Given the description of an element on the screen output the (x, y) to click on. 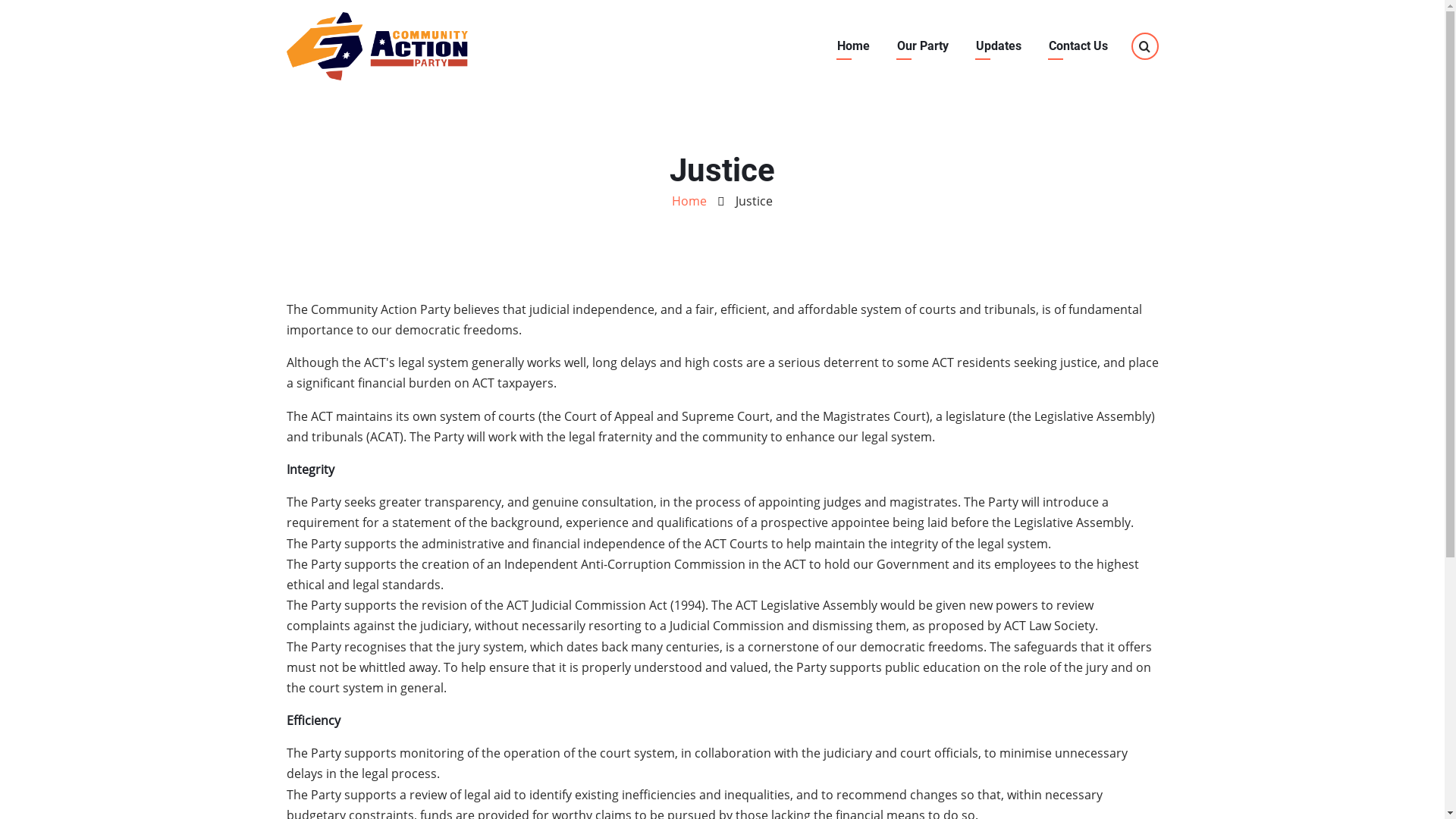
Home Element type: hover (376, 44)
Updates Element type: text (998, 45)
Skip to main content Element type: text (0, 0)
Home Element type: text (688, 200)
Our Party Element type: text (922, 45)
Home Element type: text (852, 45)
Contact Us Element type: text (1078, 45)
